Given the description of an element on the screen output the (x, y) to click on. 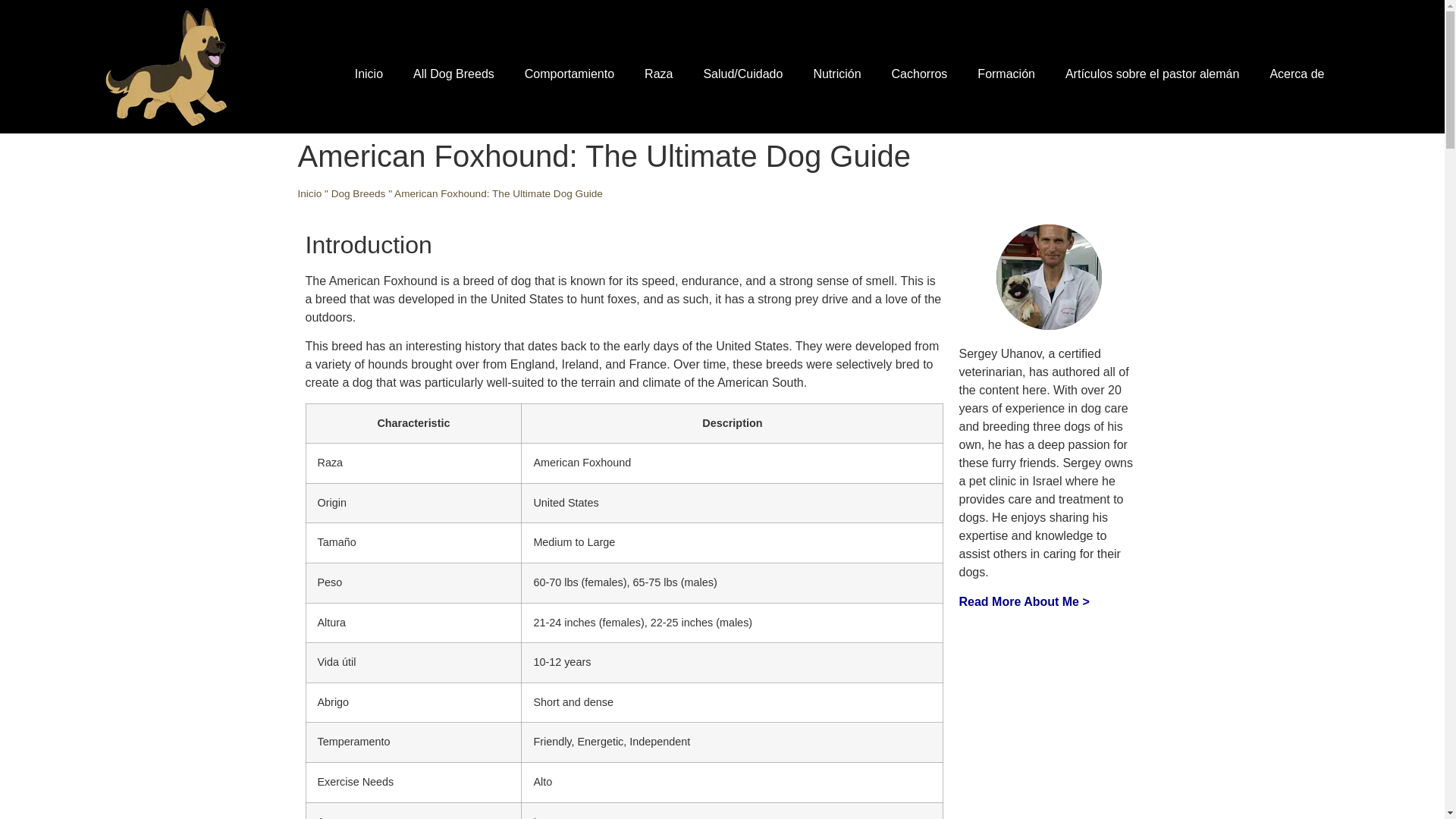
Comportamiento (568, 73)
All Dog Breeds (453, 73)
Dog Breeds (358, 193)
Acerca de (1296, 73)
Cachorros (919, 73)
Inicio (309, 193)
Raza (657, 73)
Inicio (368, 73)
